Given the description of an element on the screen output the (x, y) to click on. 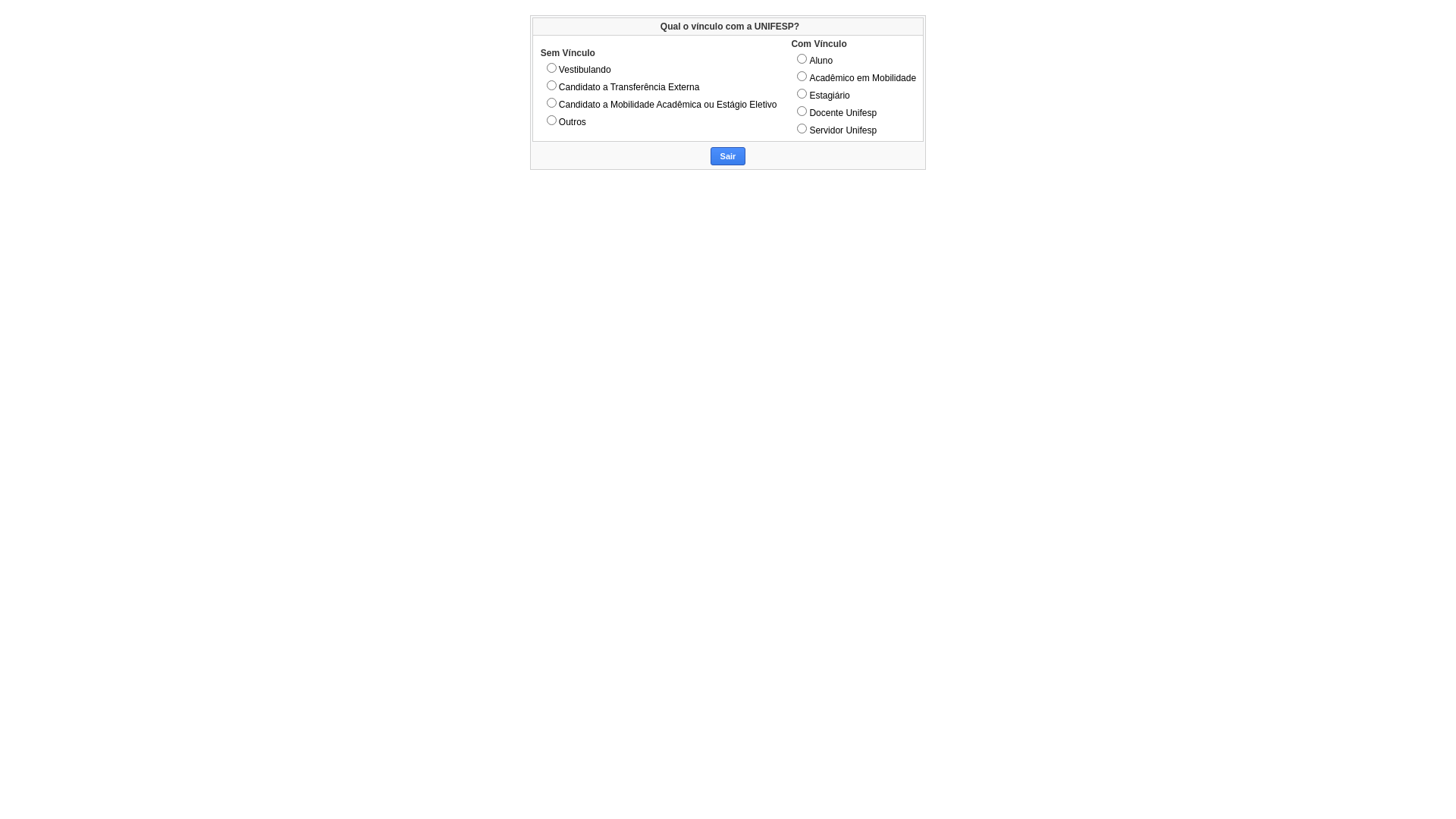
6 Element type: text (551, 67)
7 Element type: text (551, 85)
8 Element type: text (551, 101)
4 Element type: text (801, 111)
5 Element type: text (801, 128)
2 Element type: text (801, 76)
Sair Element type: text (728, 156)
3 Element type: text (801, 93)
9 Element type: text (551, 120)
1 Element type: text (801, 58)
